Given the description of an element on the screen output the (x, y) to click on. 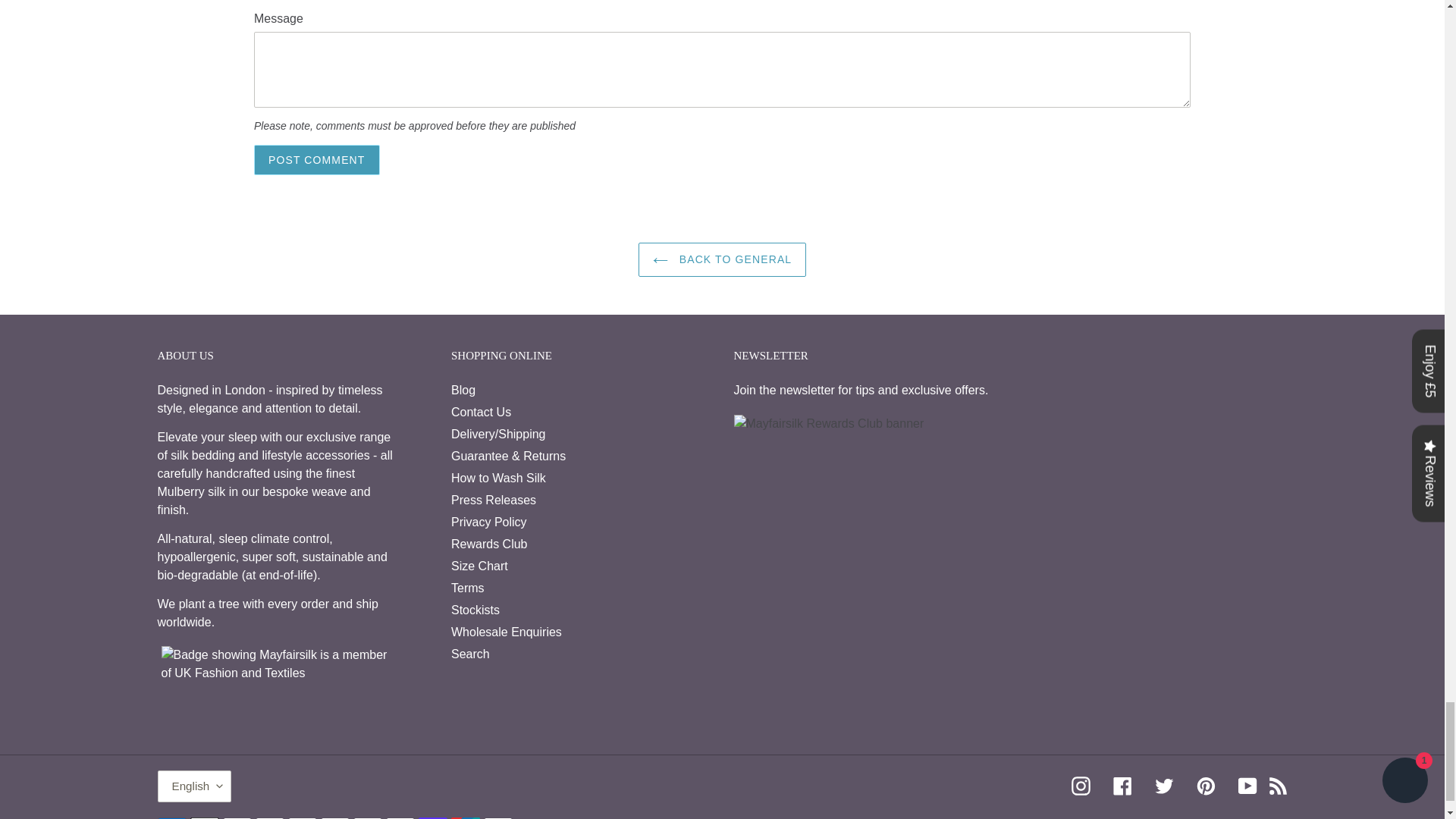
Post comment (316, 160)
